Given the description of an element on the screen output the (x, y) to click on. 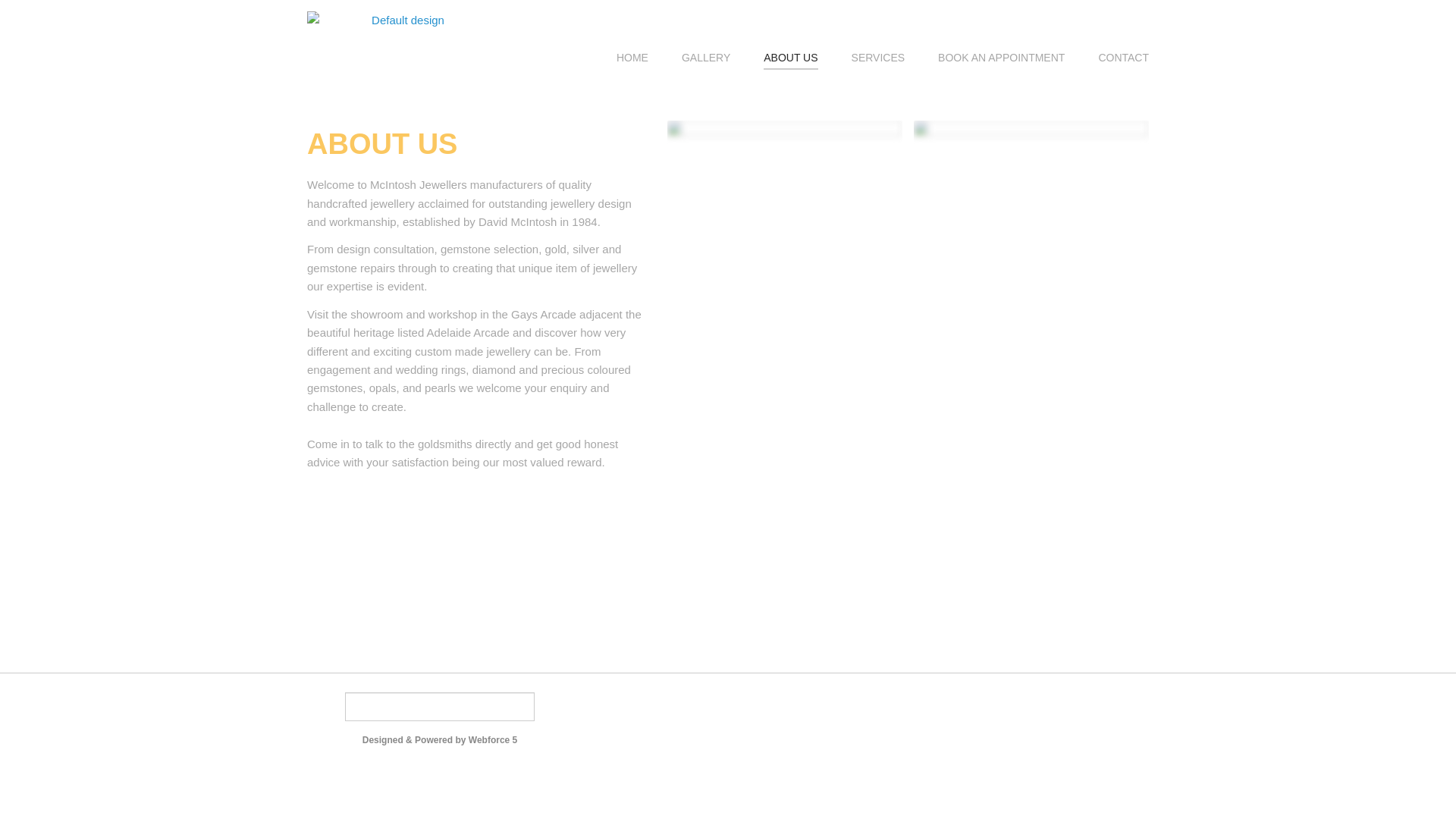
Designed & Powered by Webforce 5 Element type: text (440, 739)
BOOK AN APPOINTMENT Element type: text (1001, 58)
HOME Element type: text (632, 58)
GALLERY Element type: text (705, 58)
Facebook Element type: text (705, 707)
ABOUT US Element type: text (790, 58)
CONTACT Element type: text (1123, 58)
Instagram Element type: text (750, 707)
SERVICES Element type: text (878, 58)
